Given the description of an element on the screen output the (x, y) to click on. 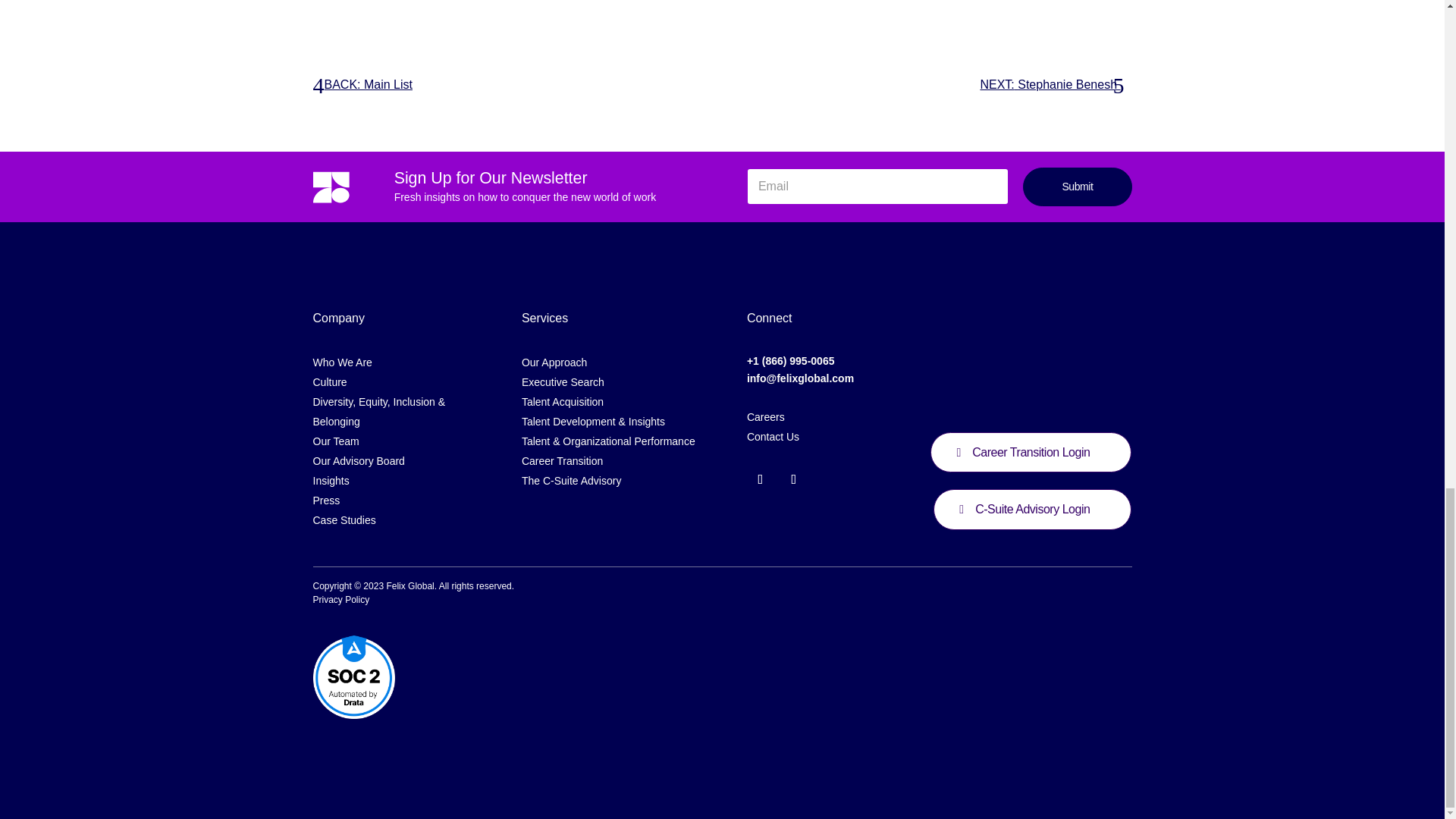
logo (331, 187)
SOC 2 White (353, 677)
Follow on Twitter (760, 479)
Follow on LinkedIn (794, 479)
